Given the description of an element on the screen output the (x, y) to click on. 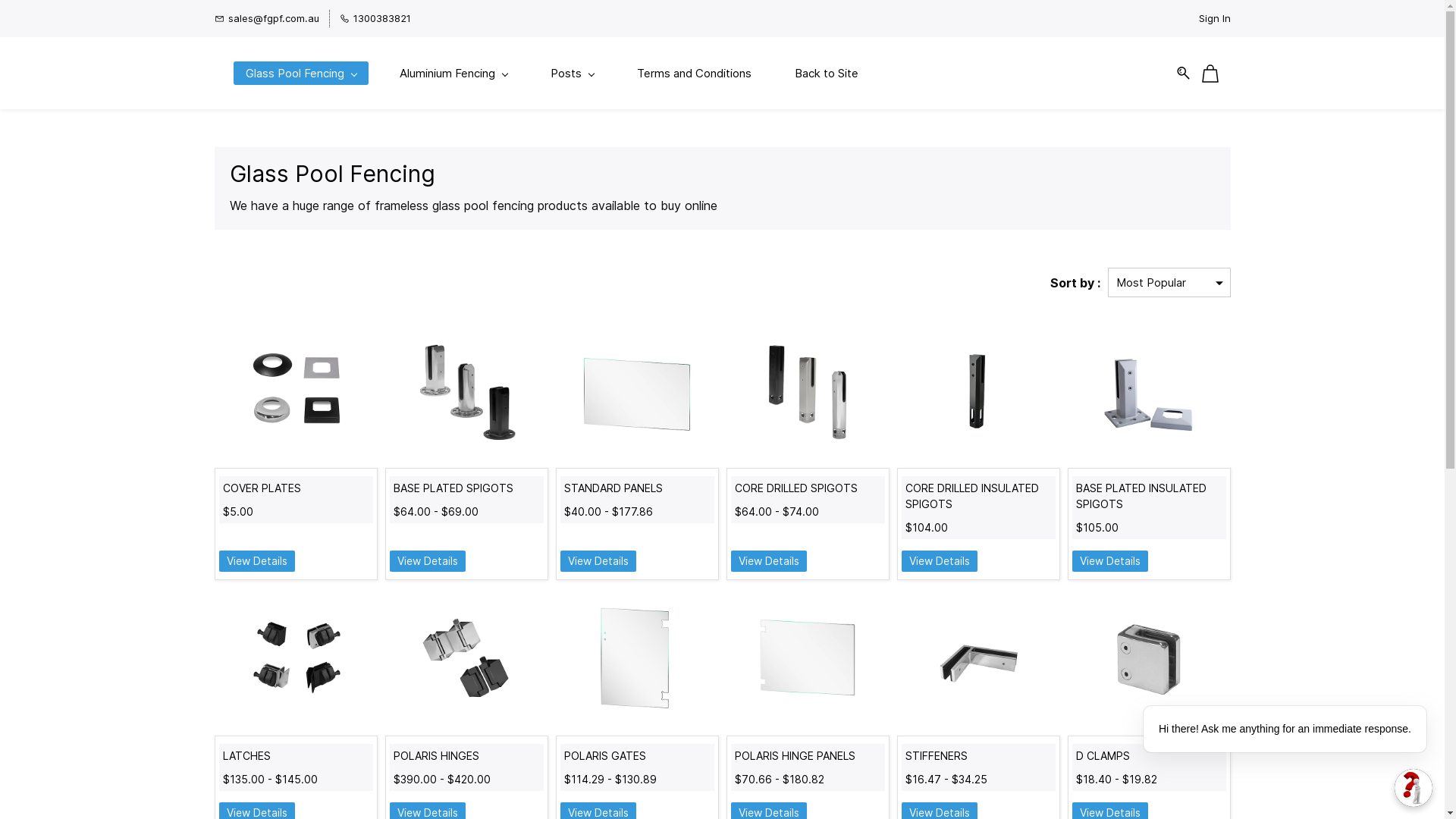
Glass Pool Fencing Element type: text (300, 72)
POLARIS GATE Element type: hover (636, 659)
STIFFENERS Element type: text (978, 755)
STIFFENERS Element type: hover (978, 659)
Posts Element type: text (571, 72)
1300383821 Element type: text (375, 18)
CORE DRILLED INSULATED SPIGOTS Element type: text (978, 495)
POLARIS HINGES Element type: hover (466, 659)
POLARIS HINGE PANELS Element type: hover (807, 659)
Back to Site Element type: text (826, 72)
STANDARD PANELS Element type: text (637, 487)
Sign In Element type: text (1214, 18)
Aluminium Fencing Element type: text (452, 72)
CORE DRILLED INSULATED SPIGOTS Element type: hover (978, 391)
POLARIS HINGES Element type: text (465, 755)
BASE PLATED INSULATED SPIGOTS Element type: hover (1148, 391)
BASE PLATED SPIGOTS Element type: hover (466, 391)
POLARIS HINGE PANELS Element type: text (807, 755)
Terms and Conditions Element type: text (693, 72)
COVER PLATES Element type: hover (295, 391)
COVER PLATES Element type: text (295, 487)
View Details Element type: text (938, 560)
View Details Element type: text (256, 560)
LATCHES Element type: text (295, 755)
CORE DRILLED SPIGOTS Element type: text (807, 487)
D CLAMPS Element type: hover (1148, 659)
D CLAMPS Element type: text (1148, 755)
View Details Element type: text (427, 560)
sales@fgpf.com.au Element type: text (265, 18)
View Details Element type: text (768, 560)
BASE PLATED INSULATED SPIGOTS Element type: text (1148, 495)
POLARIS GATES Element type: text (637, 755)
LATCHES Element type: hover (295, 659)
View Details Element type: text (1110, 560)
View Details Element type: text (597, 560)
CORE DRILLED SPIGOTS Element type: hover (807, 391)
PANEL TOUGHENED GLASS 2000*1200*12mm Element type: hover (636, 391)
BASE PLATED SPIGOTS Element type: text (465, 487)
